Given the description of an element on the screen output the (x, y) to click on. 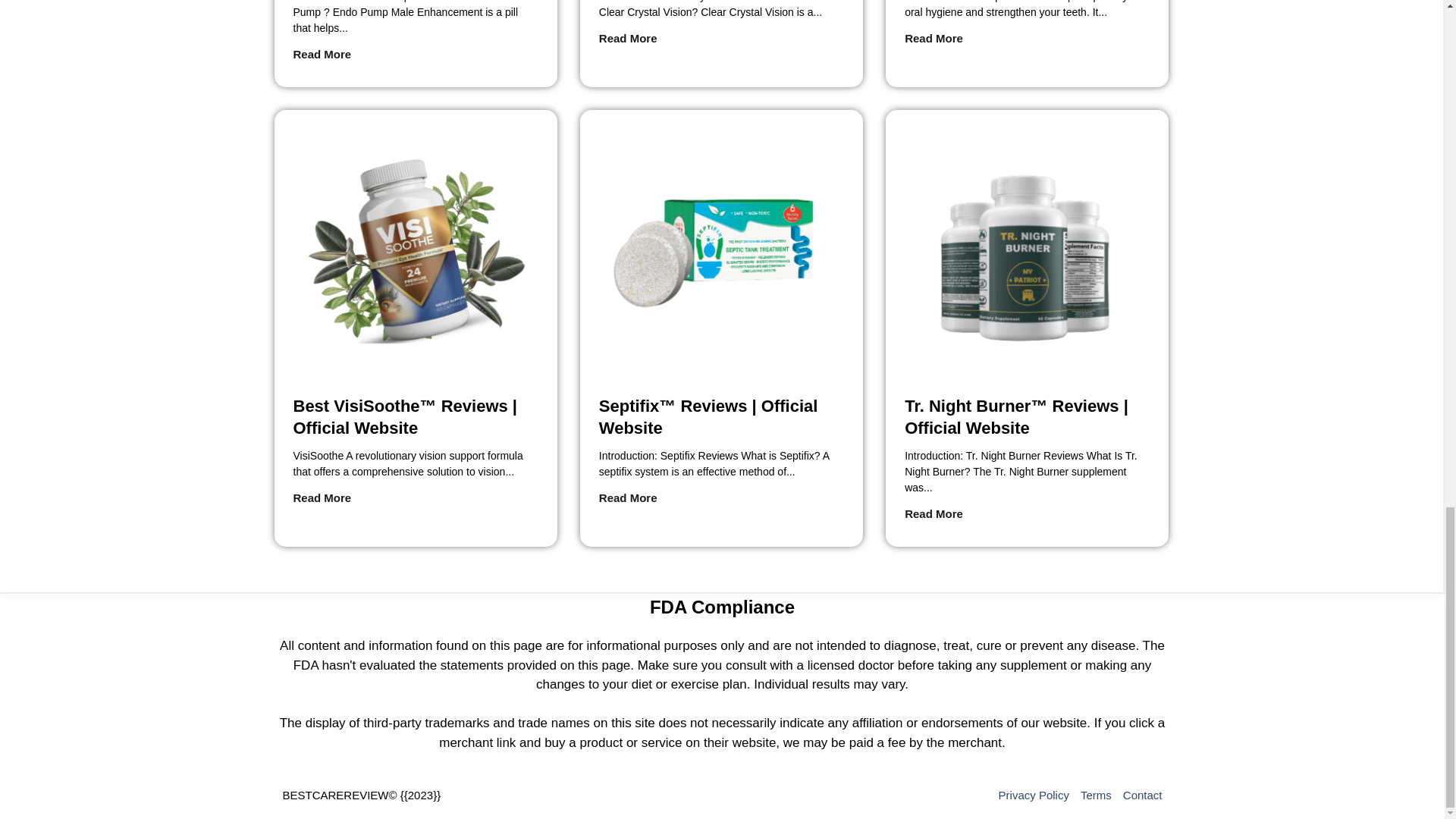
Read More (321, 497)
Terms (1096, 795)
Read More (933, 37)
Read More (628, 37)
Read More (321, 54)
Contact (1141, 795)
Privacy Policy (1033, 795)
Read More (933, 513)
Read More (628, 497)
